Given the description of an element on the screen output the (x, y) to click on. 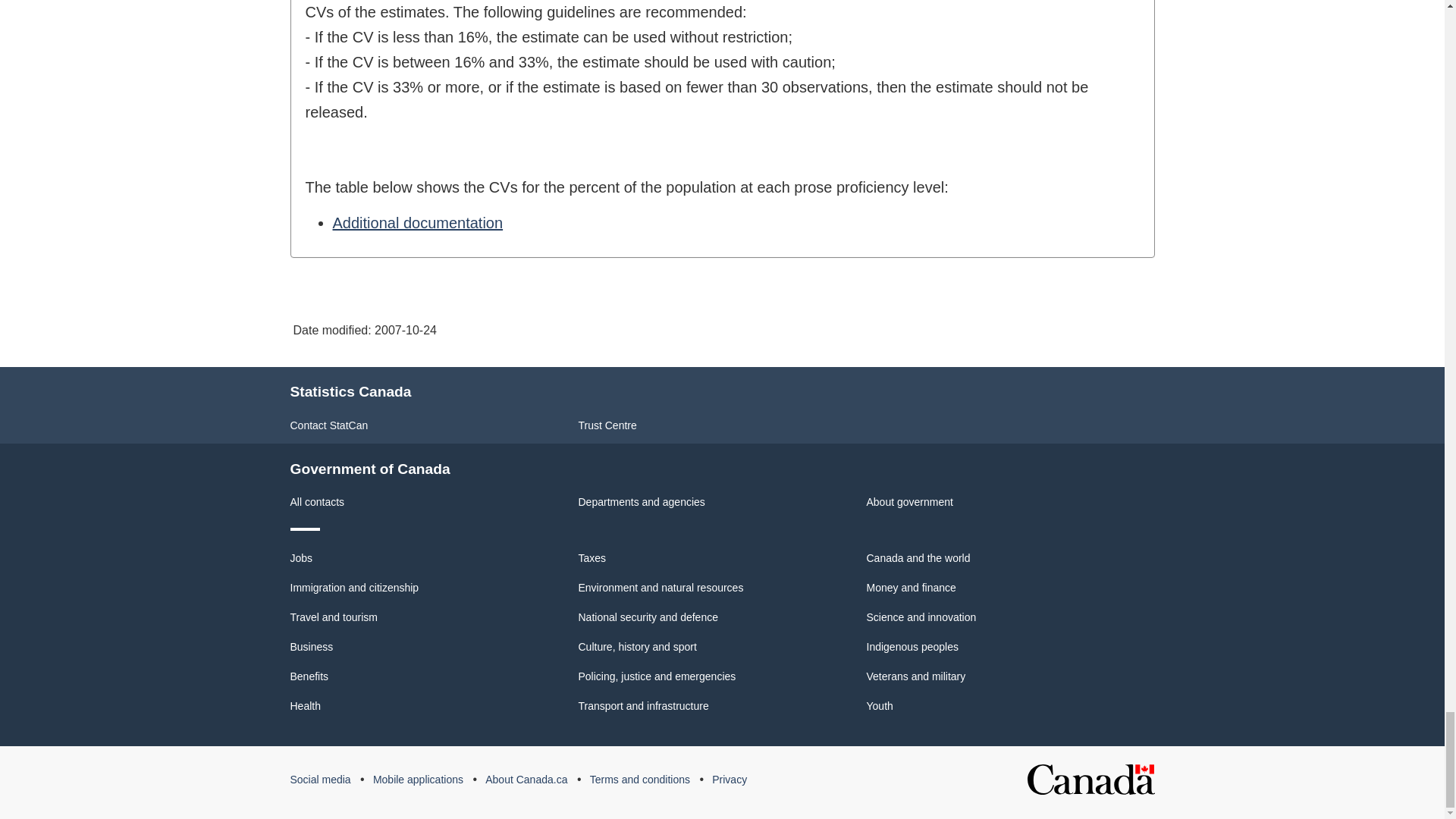
Trust Centre (607, 425)
All contacts (316, 501)
Additional documentation (416, 222)
About government (909, 501)
Travel and tourism (333, 616)
Immigration and citizenship (354, 587)
Jobs (301, 558)
Data accuracy - Additional documentation (416, 222)
Contact StatCan (328, 425)
Departments and agencies (641, 501)
